Given the description of an element on the screen output the (x, y) to click on. 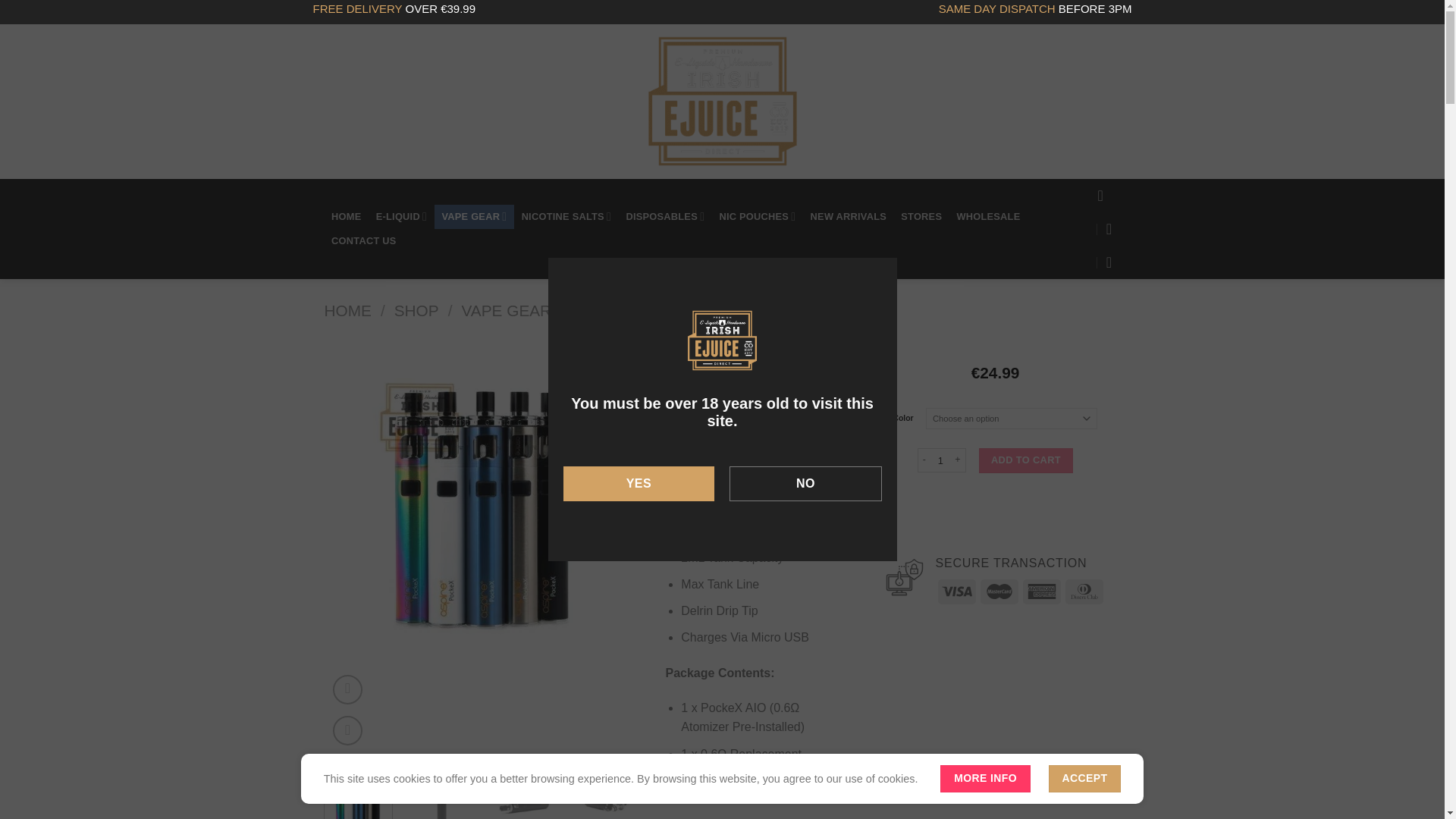
YES (638, 483)
HOME (346, 216)
POckex (483, 501)
E-LIQUID (400, 216)
NO (804, 483)
Pockex 1 (164, 501)
Search (488, 101)
